Given the description of an element on the screen output the (x, y) to click on. 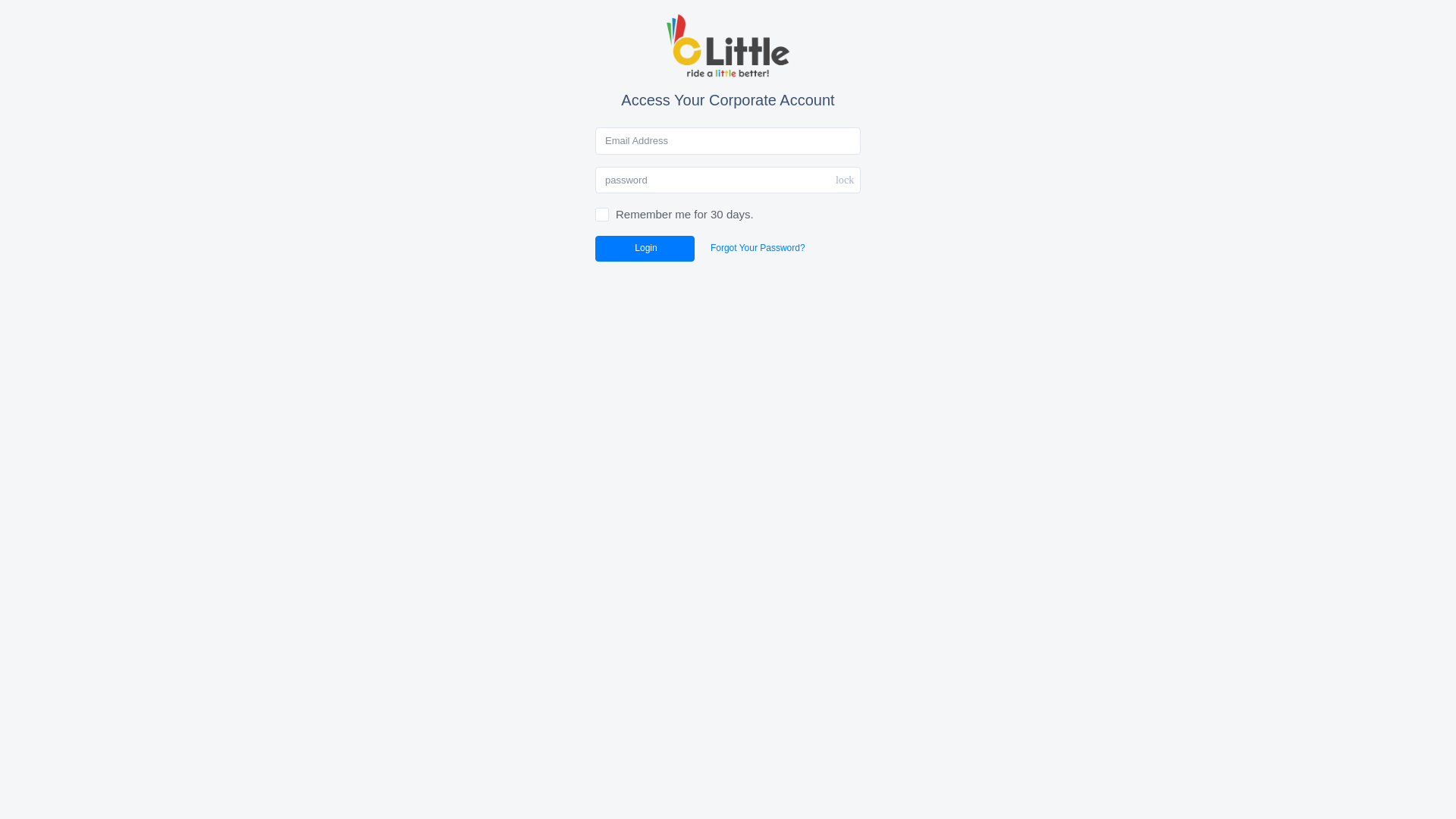
Login Element type: text (644, 248)
Forgot Your Password? Element type: text (757, 248)
